Given the description of an element on the screen output the (x, y) to click on. 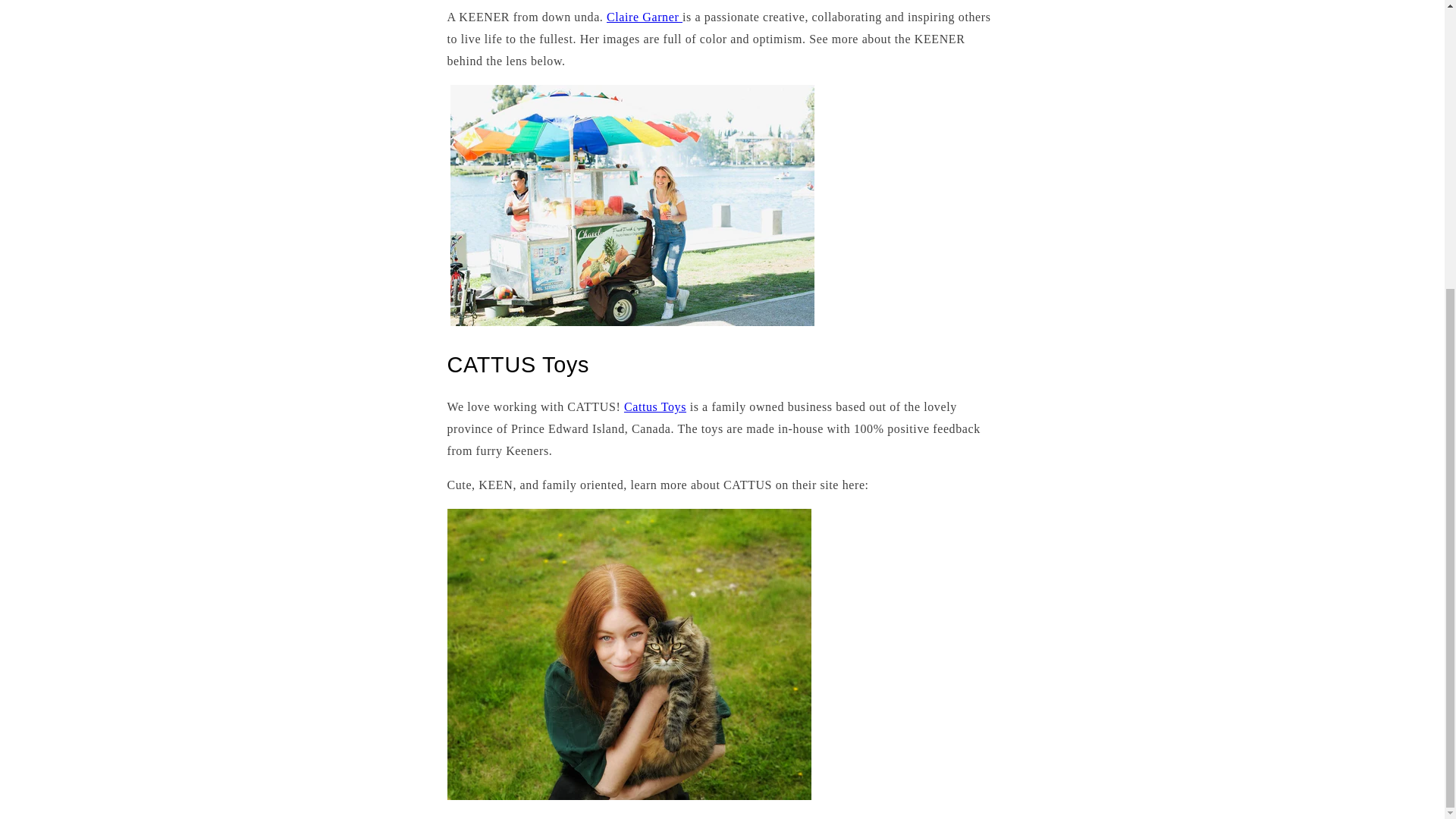
Cattus Toys (654, 406)
Claire Garner (644, 16)
